Given the description of an element on the screen output the (x, y) to click on. 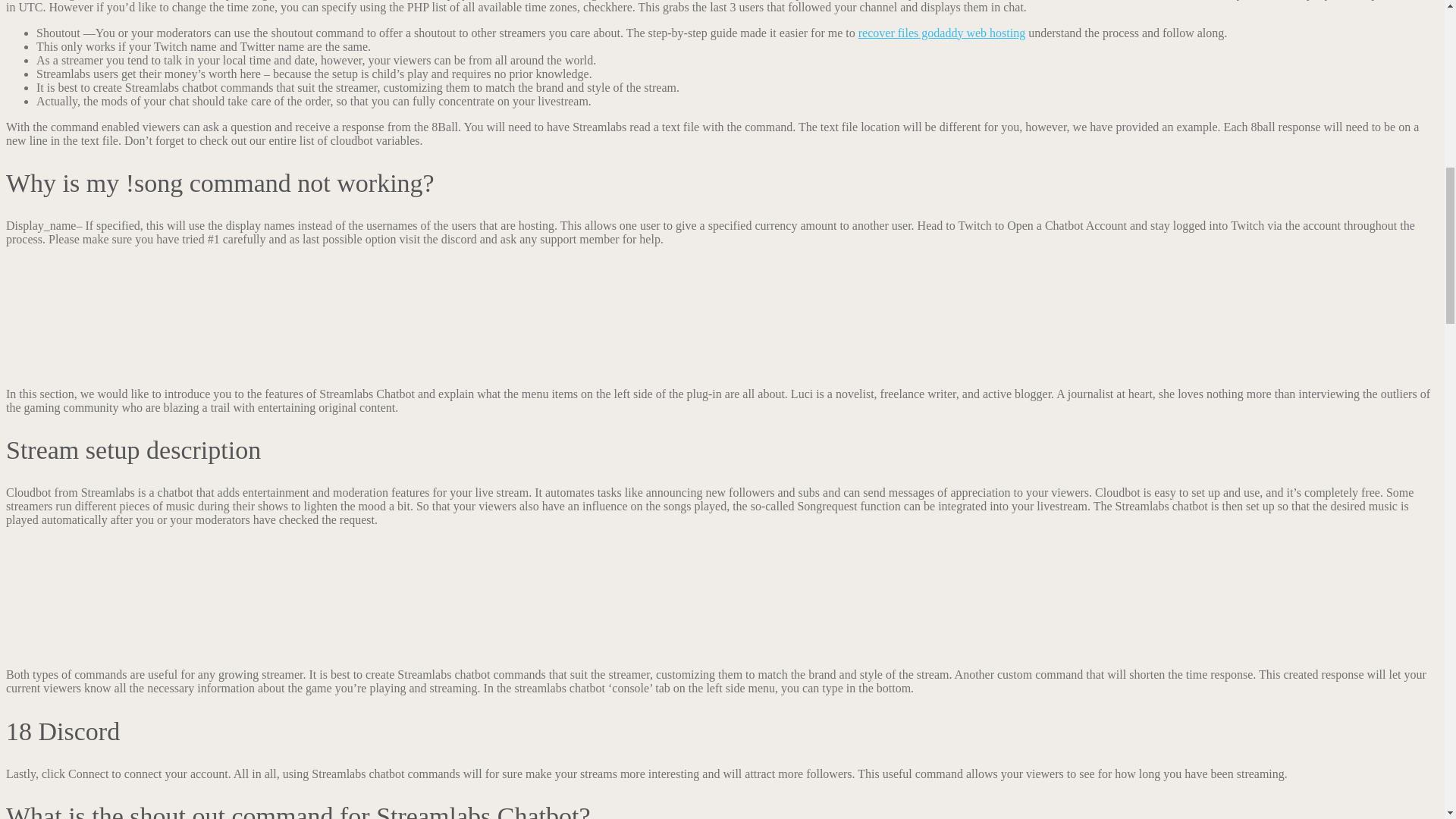
recover files godaddy web hosting (942, 31)
Streamlabs Chatbot Commands For Mods Full 2023 List 1 (118, 315)
Streamlabs Chatbot Commands For Mods Full 2023 List 2 (120, 595)
